Given the description of an element on the screen output the (x, y) to click on. 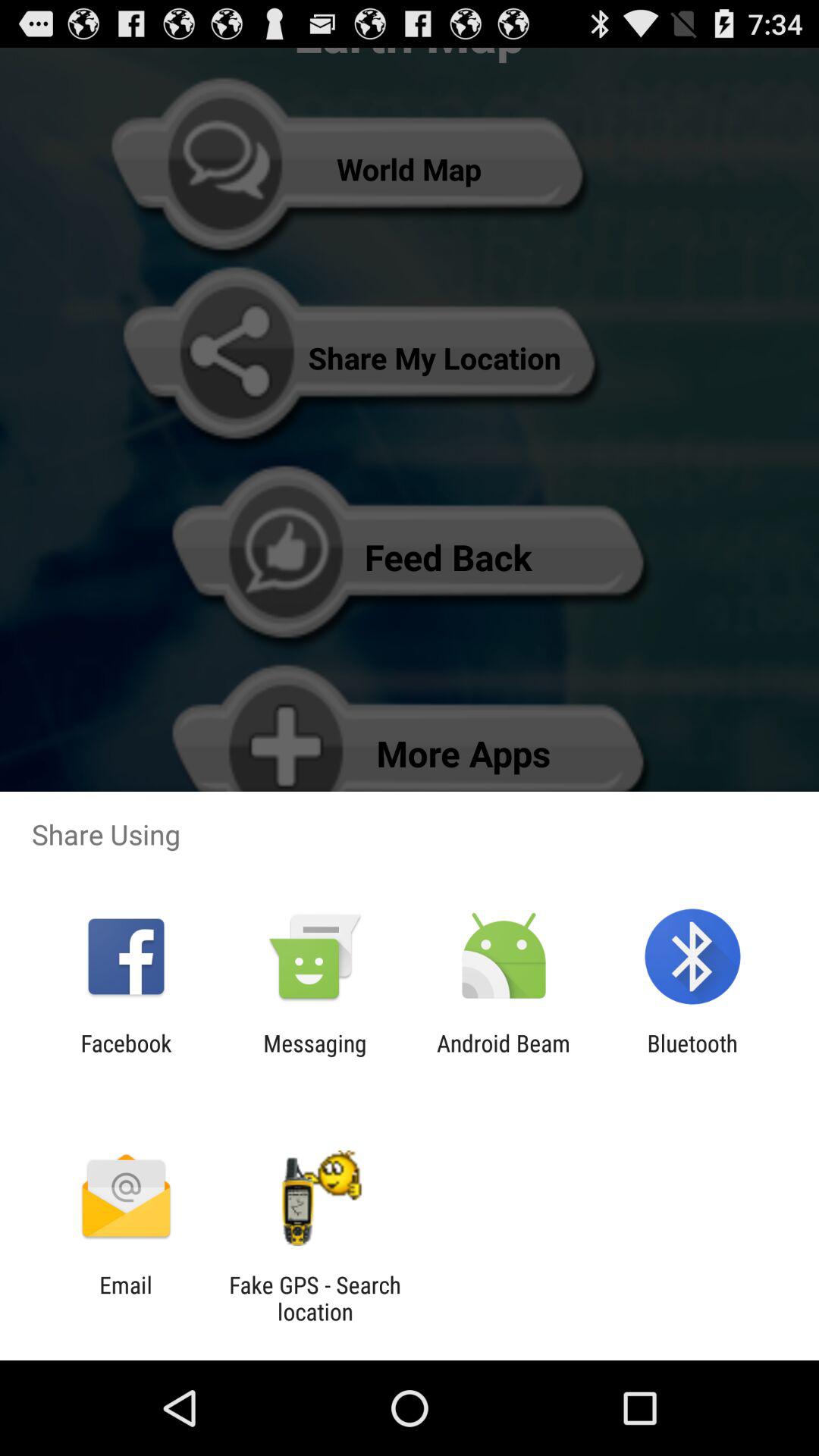
flip until the facebook app (125, 1056)
